Given the description of an element on the screen output the (x, y) to click on. 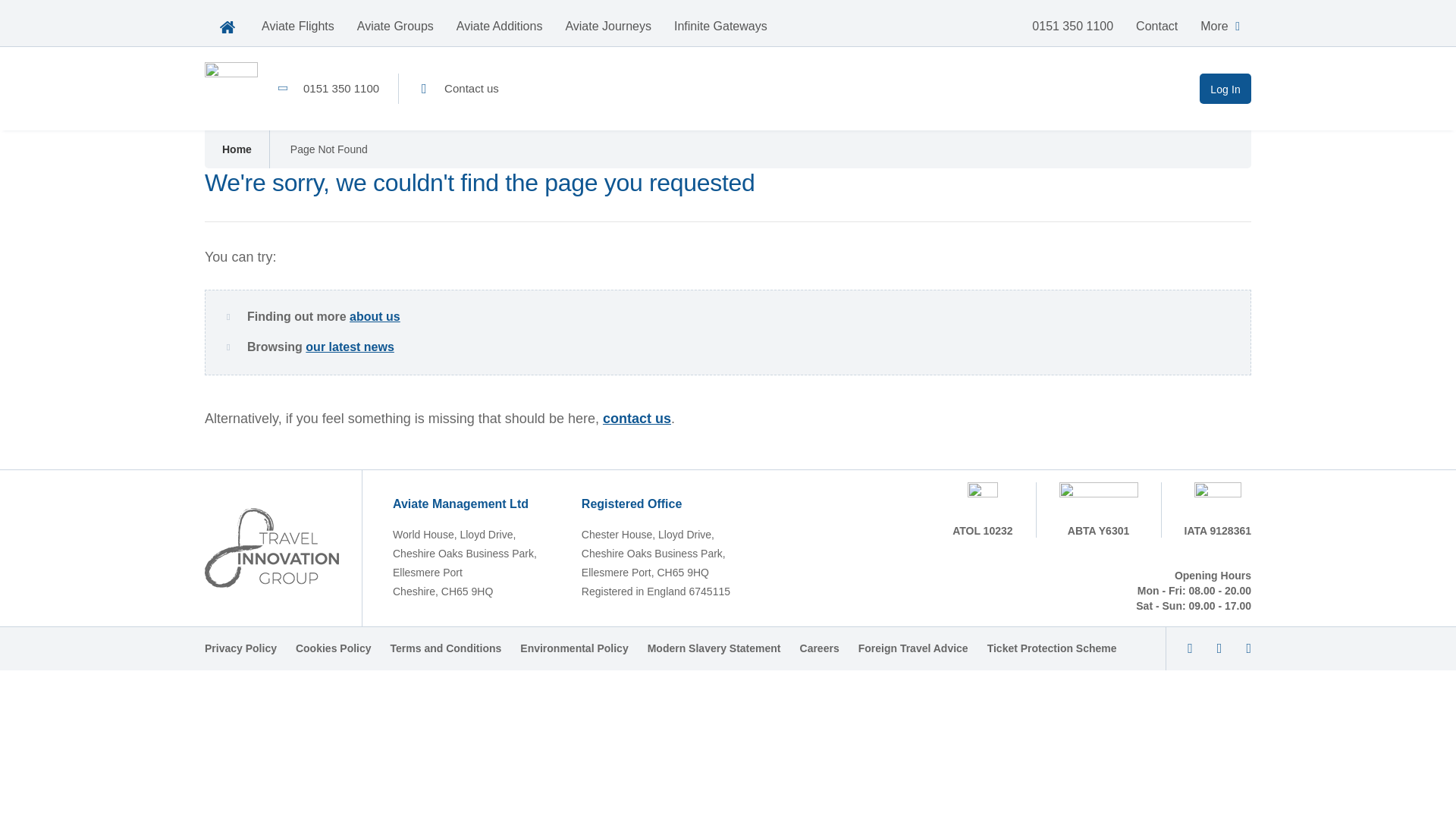
More (1219, 26)
0151 350 1100 (1072, 26)
0151 350 1100 (327, 88)
contact us (636, 418)
Terms and Conditions (446, 648)
Aviate Additions (499, 26)
Log In (1224, 88)
About (374, 316)
Foreign Travel Advice (913, 648)
Aviate Journeys (607, 26)
